Given the description of an element on the screen output the (x, y) to click on. 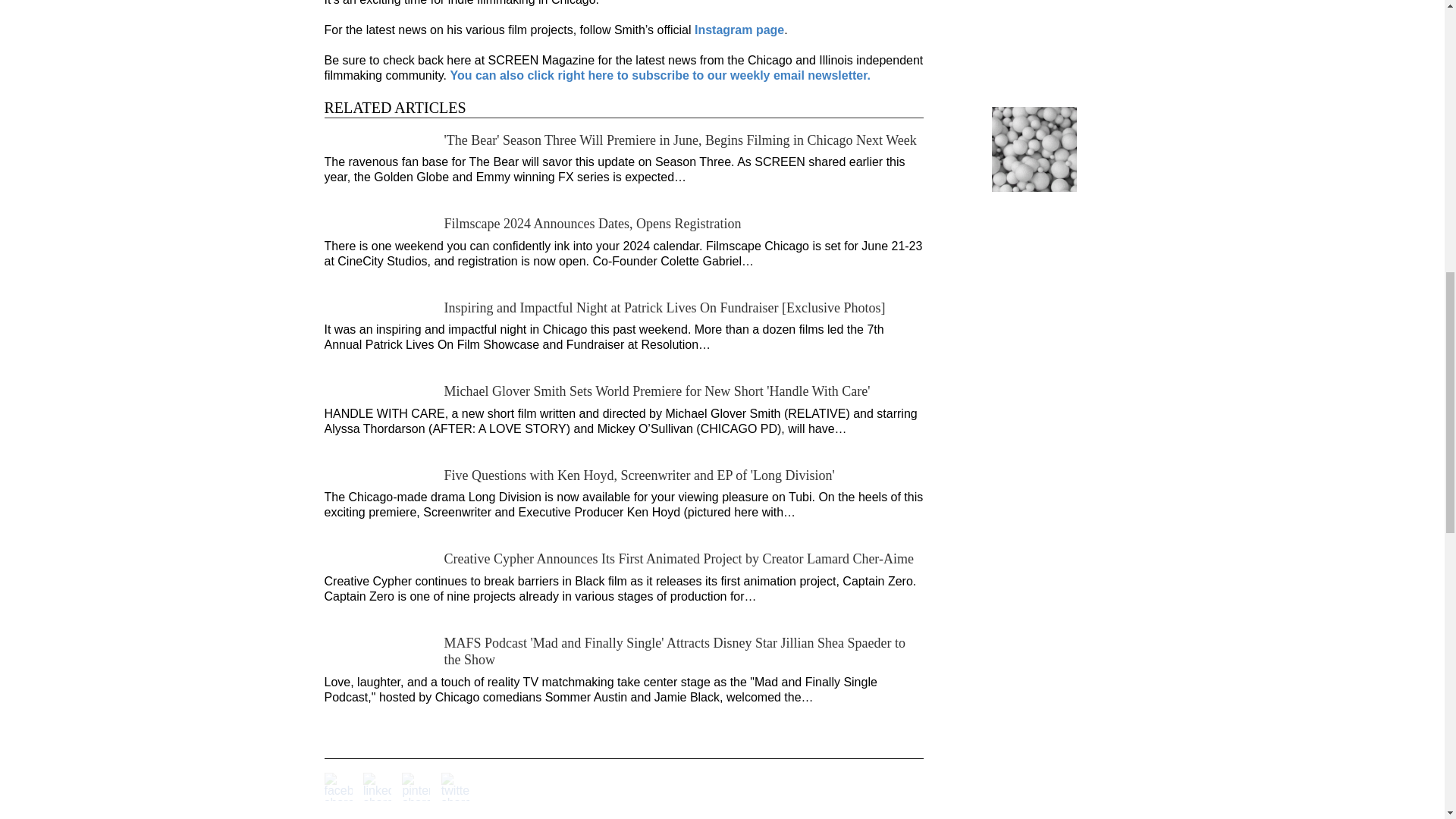
Instagram page (739, 29)
